Given the description of an element on the screen output the (x, y) to click on. 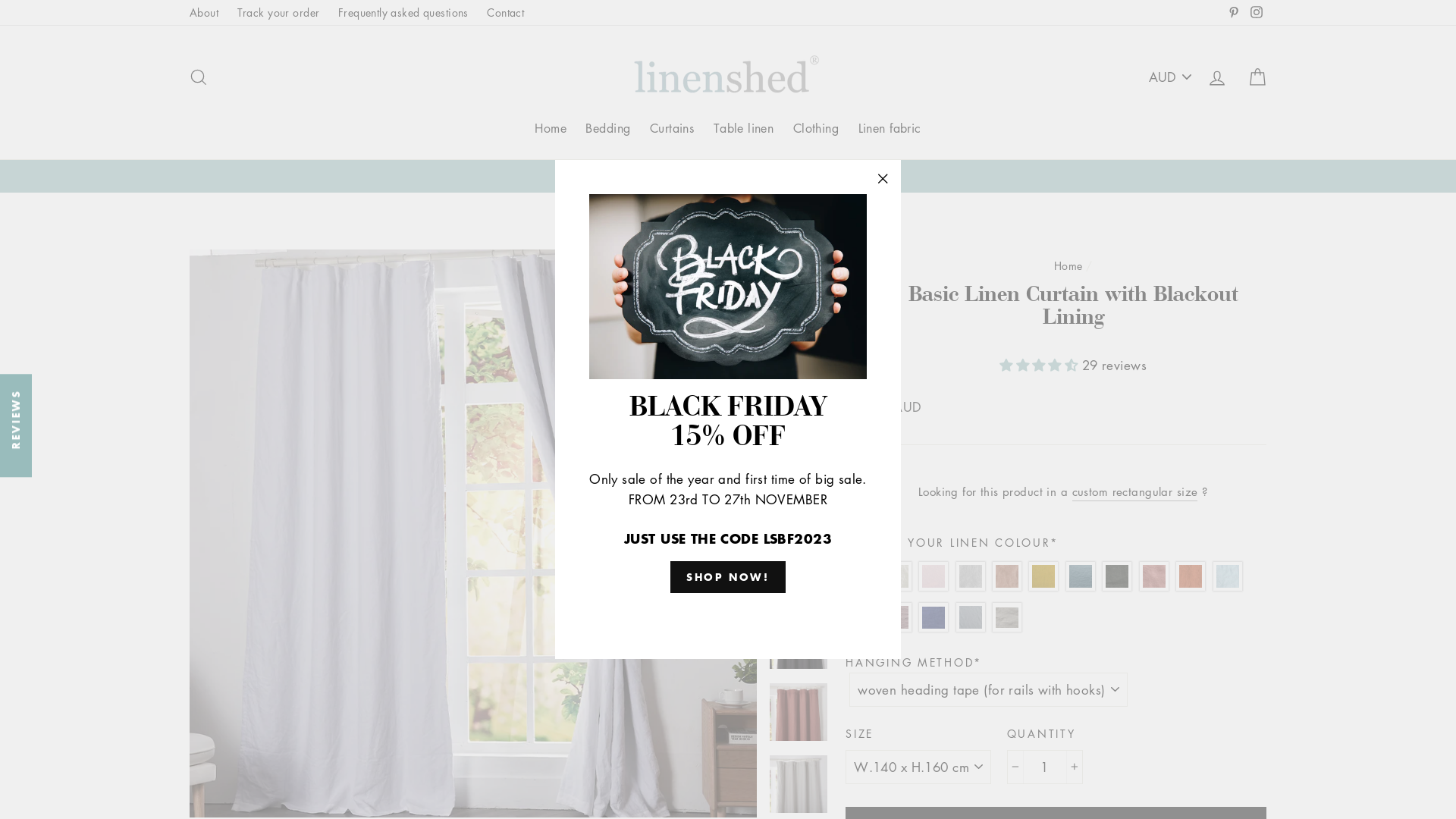
Contact Element type: text (505, 12)
Curtains Element type: text (671, 128)
Track your order Element type: text (278, 12)
custom rectangular size Element type: text (1135, 492)
Instagram Element type: text (1256, 12)
+ Element type: text (1074, 766)
Home Element type: text (1068, 265)
Cart Element type: text (1257, 76)
Clothing Element type: text (815, 128)
Skip to content Element type: text (0, 0)
Bedding Element type: text (607, 128)
Pinterest Element type: text (1233, 12)
Linen fabric Element type: text (889, 128)
Frequently asked questions Element type: text (403, 12)
SHOP NOW! Element type: text (727, 577)
About Element type: text (203, 12)
Home Element type: text (550, 128)
Table linen Element type: text (743, 128)
